Given the description of an element on the screen output the (x, y) to click on. 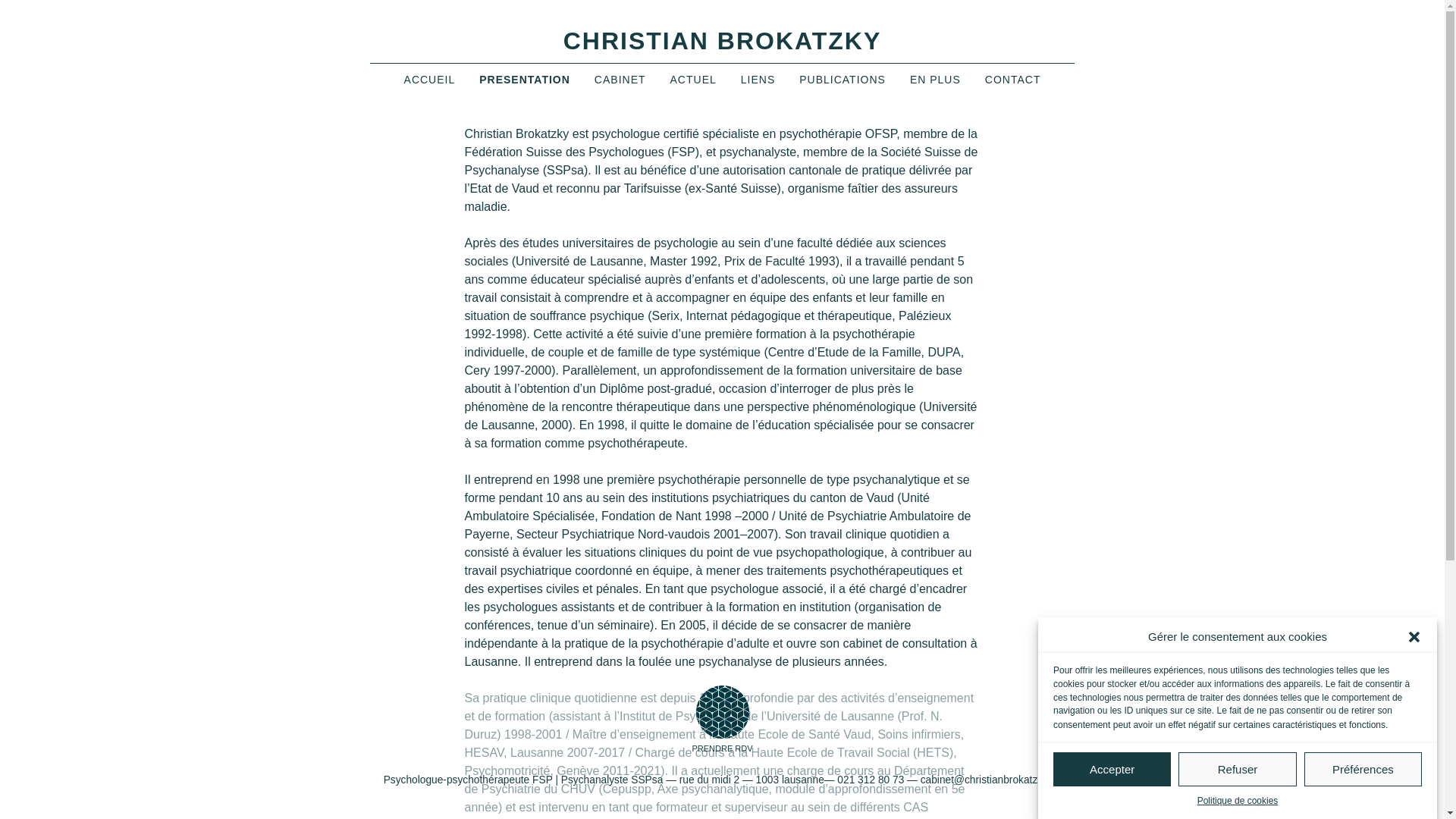
Aller au contenu Element type: text (369, 11)
Refuser Element type: text (1236, 769)
EN PLUS Element type: text (934, 79)
SSPsa Element type: text (564, 169)
PRESENTATION Element type: text (524, 79)
Accepter Element type: text (1111, 769)
ACTUEL Element type: text (693, 79)
FSP Element type: text (683, 151)
CABINET Element type: text (620, 79)
CHRISTIAN BROKATZKY Element type: text (722, 40)
ACCUEIL Element type: text (429, 79)
Politique de cookies Element type: text (1237, 800)
LIENS Element type: text (757, 79)
CONTACT Element type: text (1012, 79)
PUBLICATIONS Element type: text (842, 79)
